Given the description of an element on the screen output the (x, y) to click on. 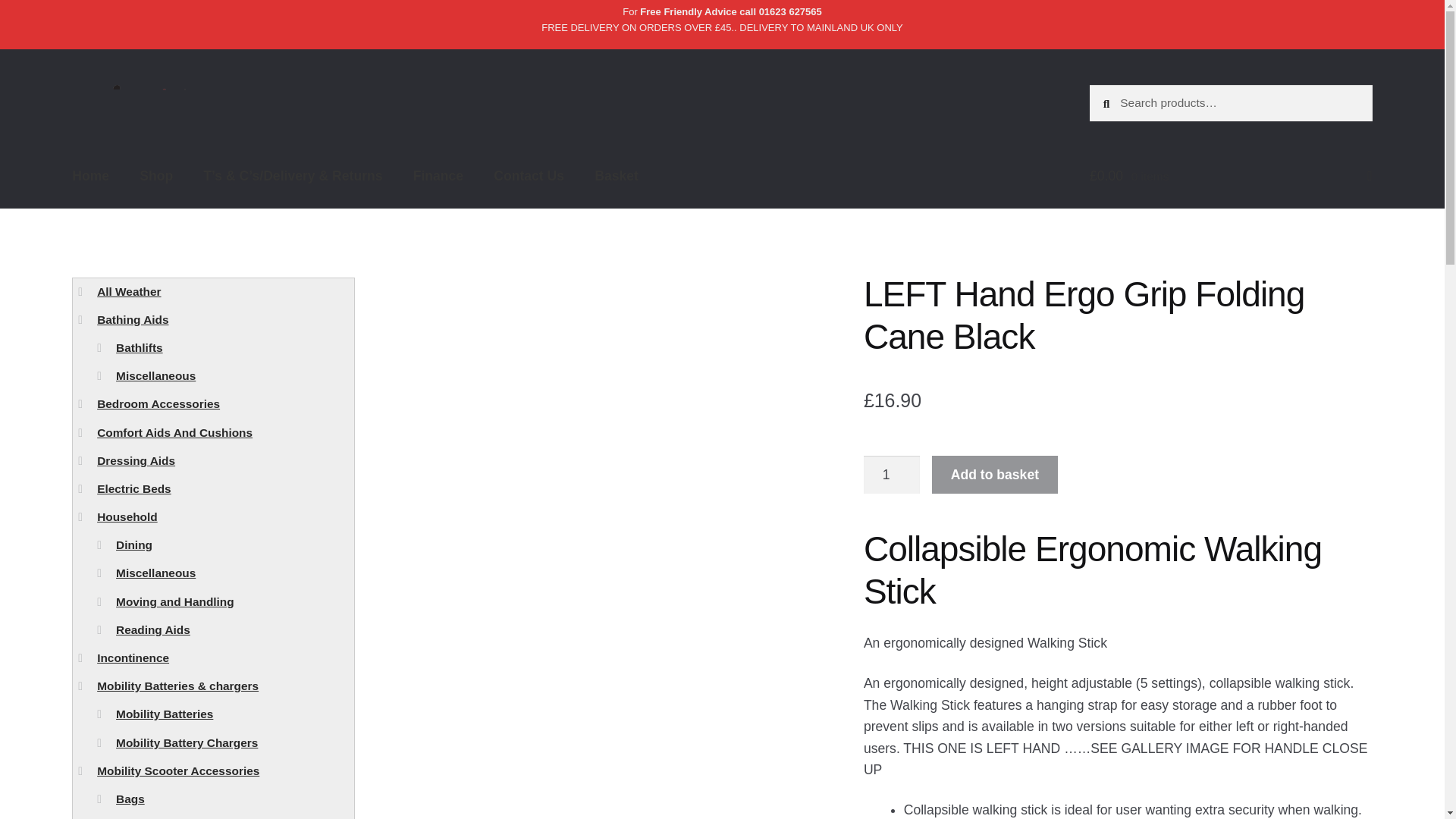
Contact Us (529, 175)
Shop (156, 175)
View your shopping basket (1231, 175)
Add to basket (994, 474)
Home (90, 175)
1 (891, 474)
Basket (616, 175)
Qty (891, 474)
